Given the description of an element on the screen output the (x, y) to click on. 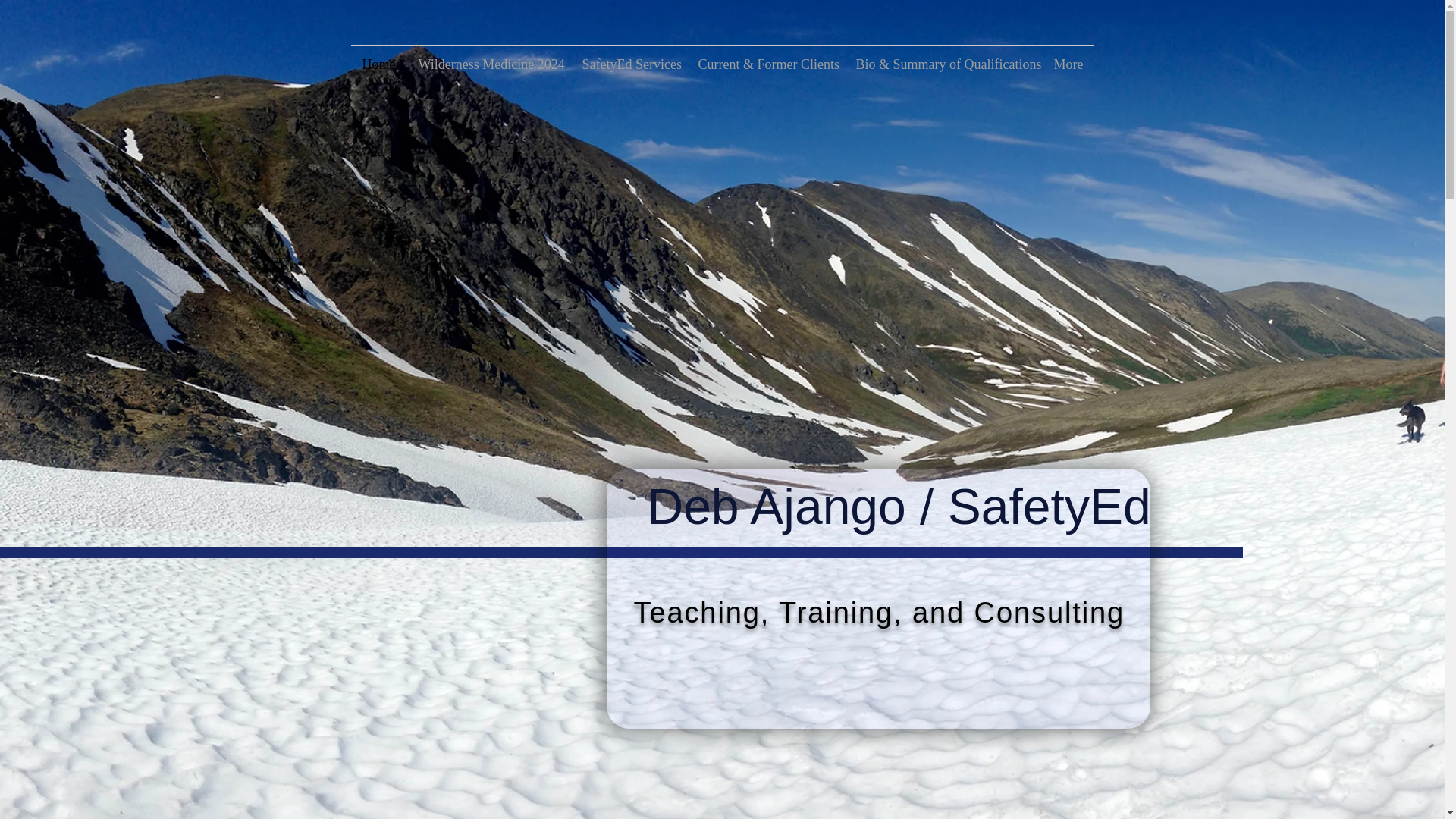
SafetyEd Services (627, 63)
Wilderness Medicine 2024 (488, 63)
Home (378, 63)
